Given the description of an element on the screen output the (x, y) to click on. 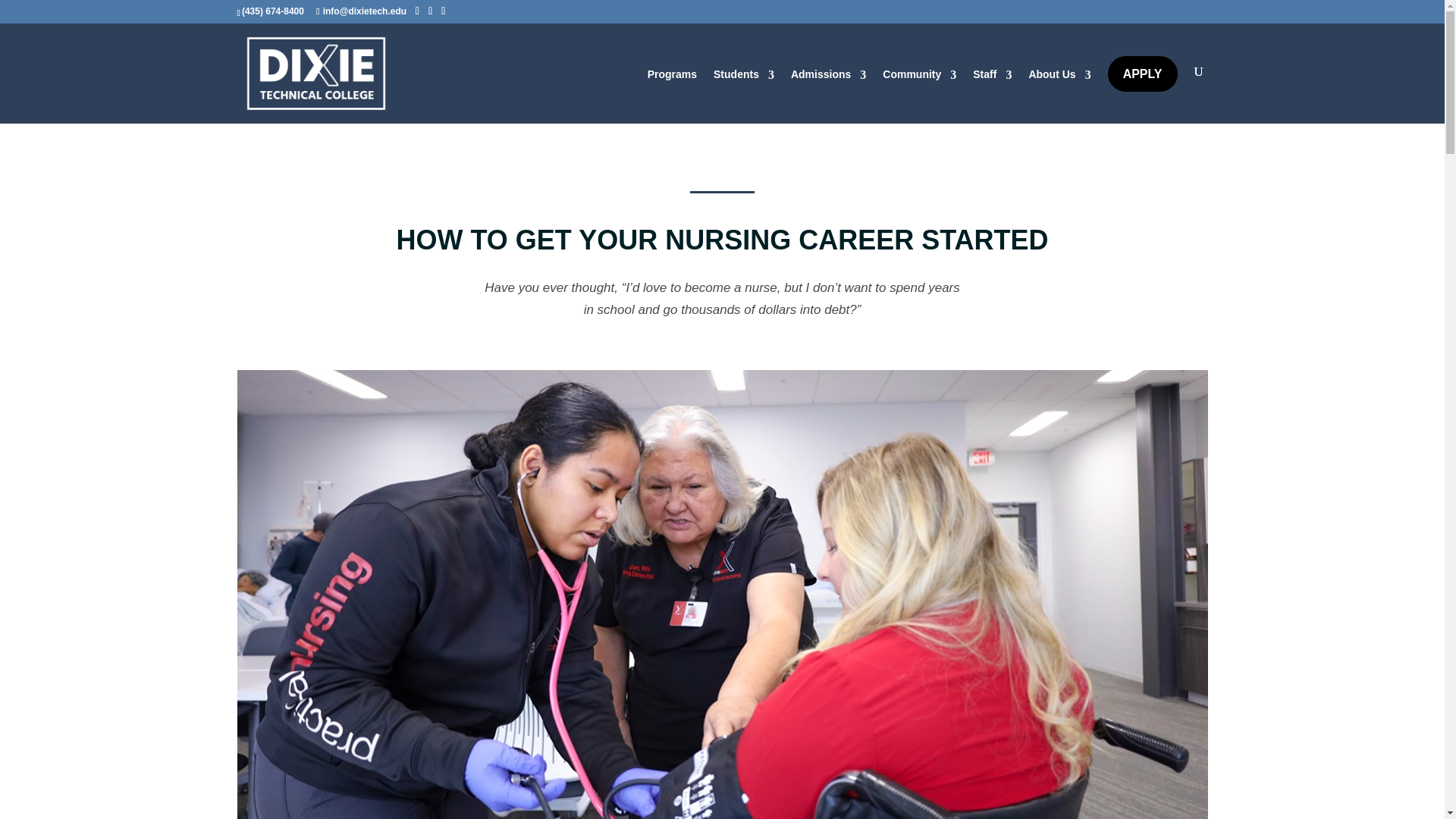
Students (743, 77)
About Us (1058, 77)
Staff (991, 77)
Community (919, 77)
Admissions (828, 77)
Programs (672, 77)
